Given the description of an element on the screen output the (x, y) to click on. 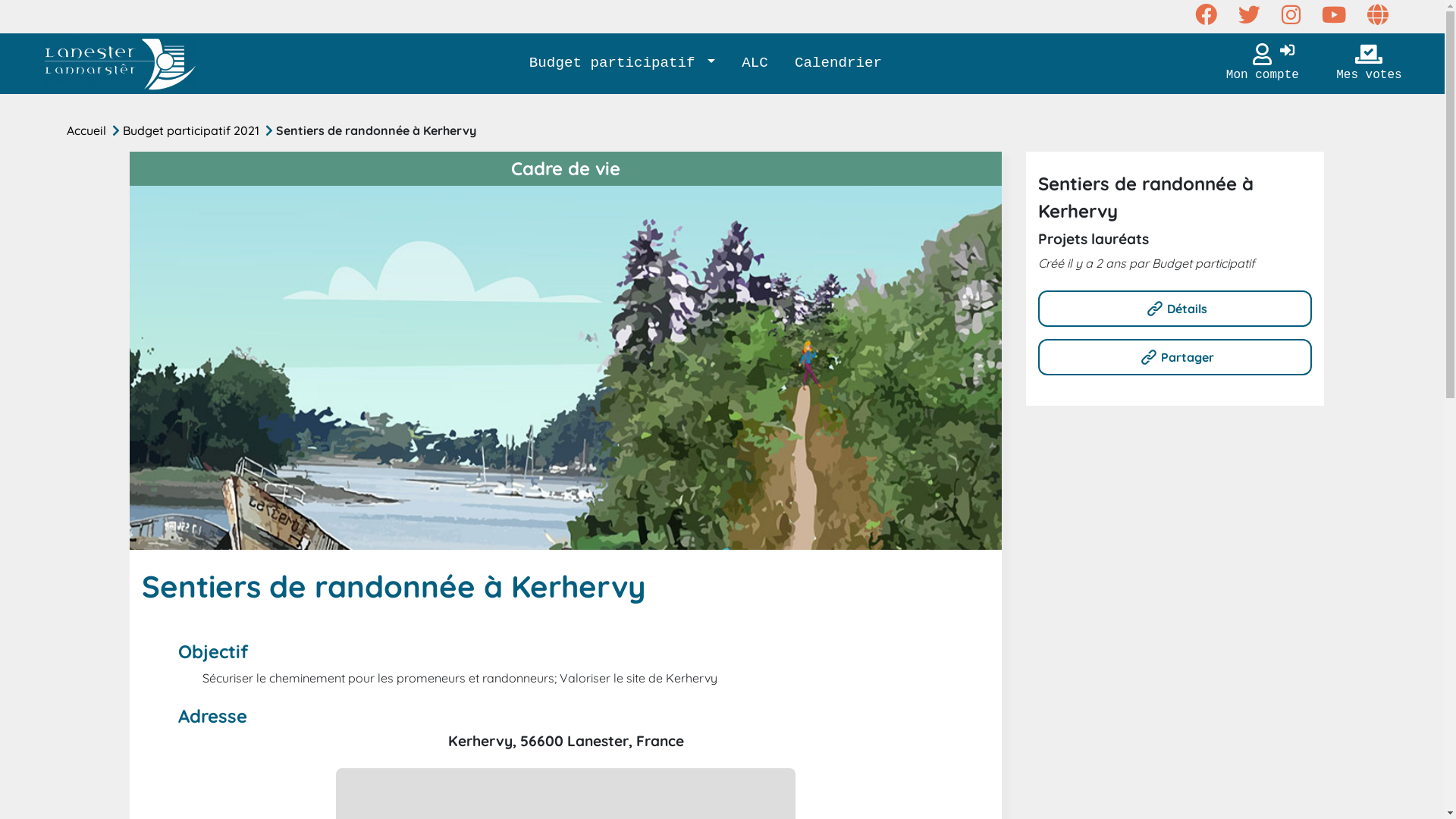
ALC Element type: text (754, 63)
Accueil Element type: text (89, 130)
Mon compte Element type: text (1262, 62)
Budget participatif 2021 Element type: text (193, 130)
Partager Element type: text (1174, 356)
Budget participatif Element type: text (621, 63)
Ville de Lanester Element type: hover (120, 63)
Connexion Element type: hover (1287, 51)
Mes votes Element type: text (1368, 62)
Calendrier Element type: text (837, 63)
1_Kerhervy.jpg Element type: hover (565, 367)
